Given the description of an element on the screen output the (x, y) to click on. 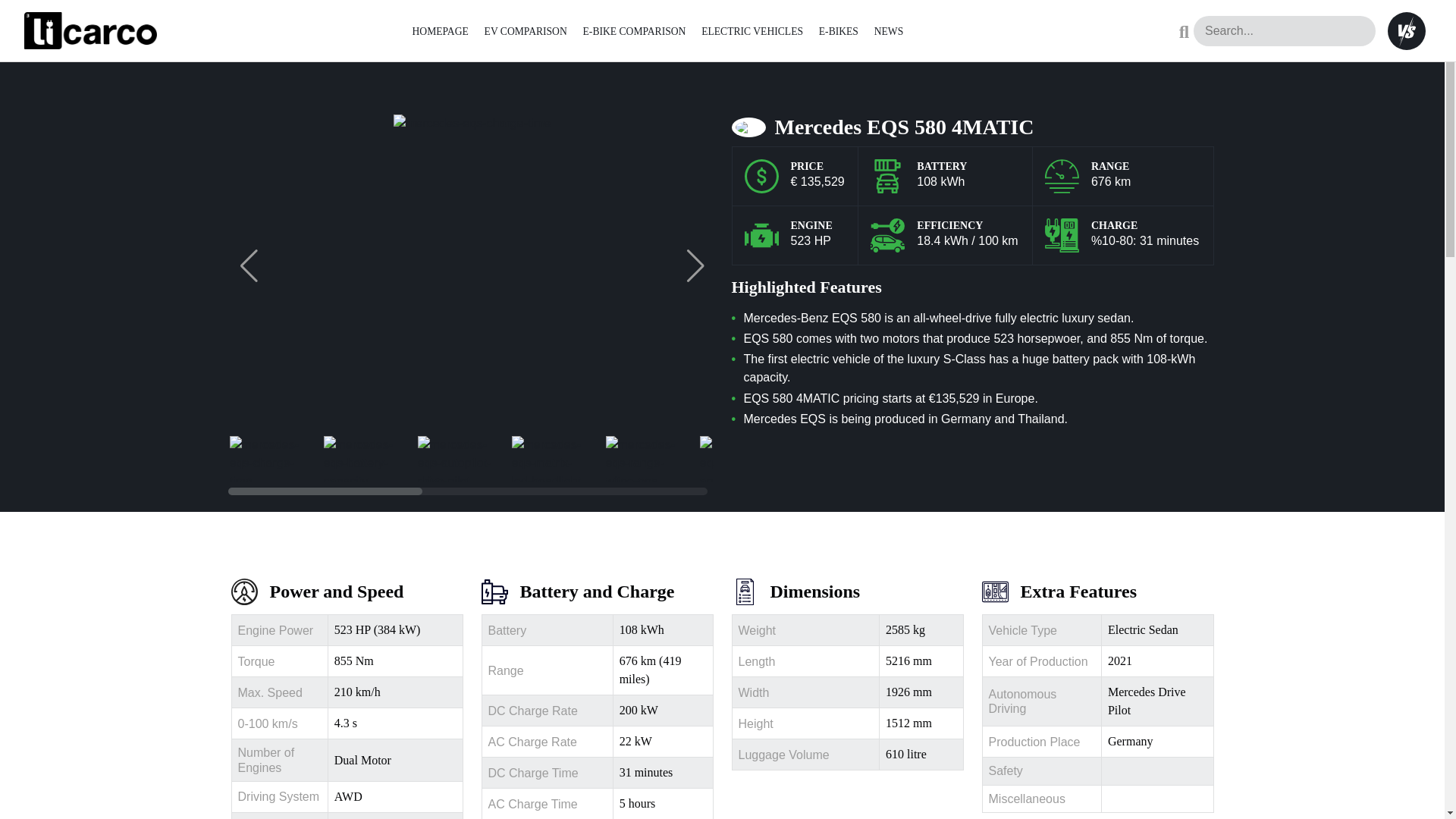
mercedes-eqs-autopilot-drive-pilot (454, 458)
EV COMPARISON (525, 30)
ELECTRIC VEHICLES (752, 30)
mercedes-eqs-battery-capacity (360, 458)
mercedes-eqs-aerodynamic-efficiency (736, 458)
HOMEPAGE (440, 30)
mercedes-eqs-charge-time (266, 458)
NEWS (889, 30)
mercedes-eqs-matrix-led-headlight (548, 458)
mercedes-eqs-interior-glass-roof (831, 458)
mercedes-eqs-range-wltpe-epa (643, 458)
E-BIKES (838, 30)
E-BIKE COMPARISON (634, 30)
